Given the description of an element on the screen output the (x, y) to click on. 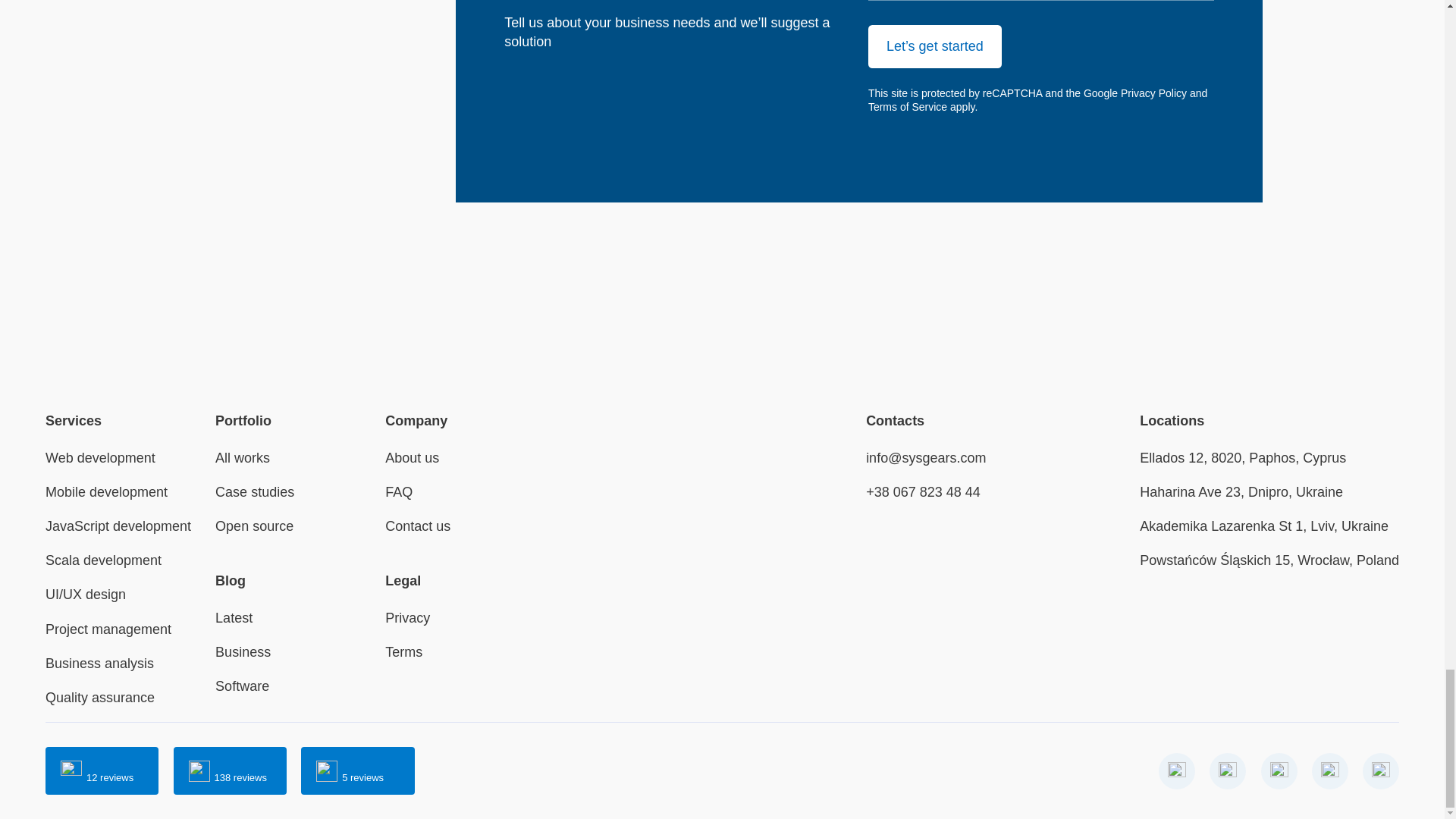
Project management (108, 629)
Software (242, 685)
All works (242, 458)
Latest (233, 617)
Business (242, 652)
Open source (254, 525)
Contact us (417, 525)
Terms of Service (907, 106)
About us (412, 458)
Google Privacy Policy (1134, 92)
